Given the description of an element on the screen output the (x, y) to click on. 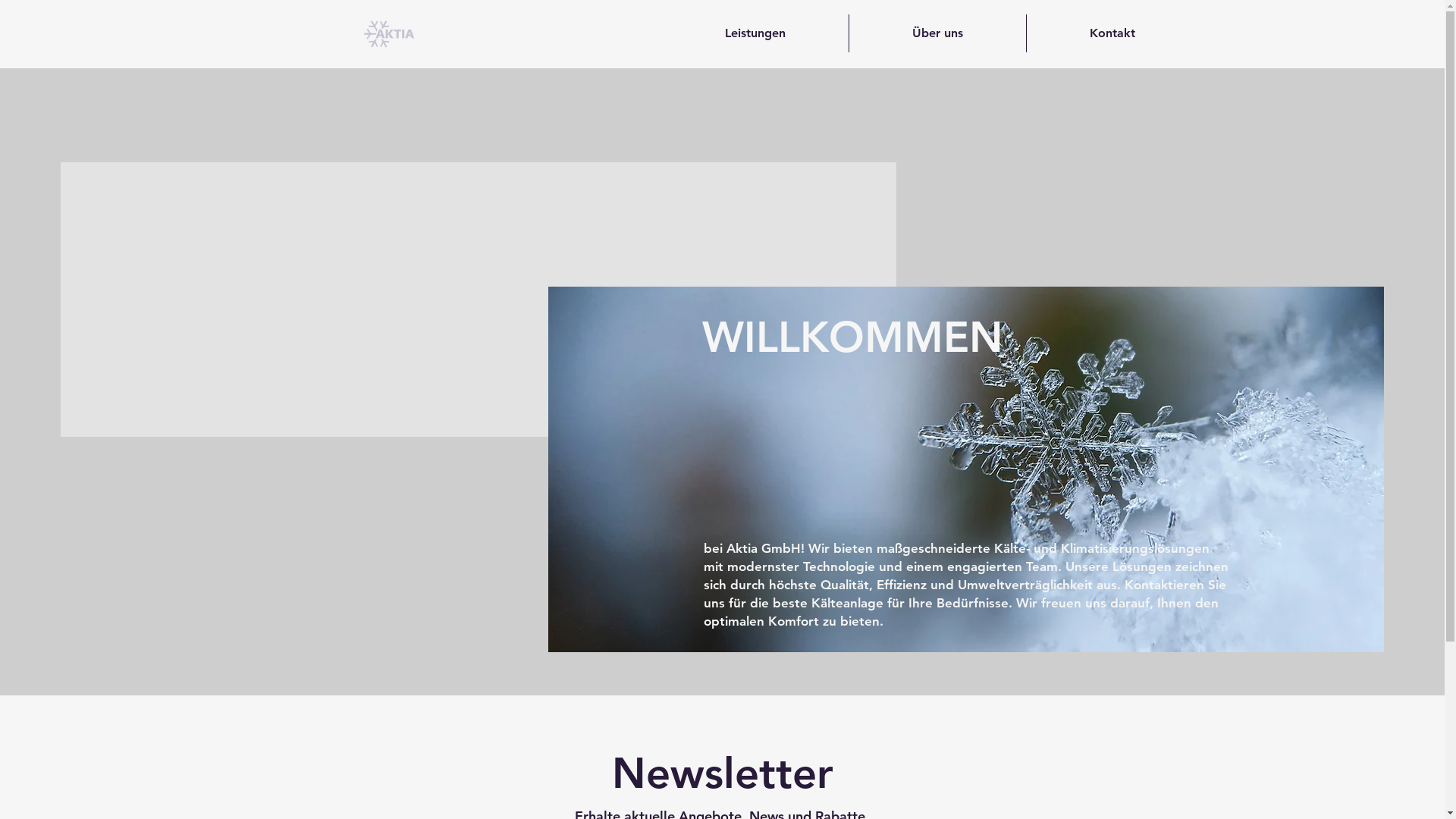
Kontakt Element type: text (1112, 33)
Leistungen Element type: text (754, 33)
